Given the description of an element on the screen output the (x, y) to click on. 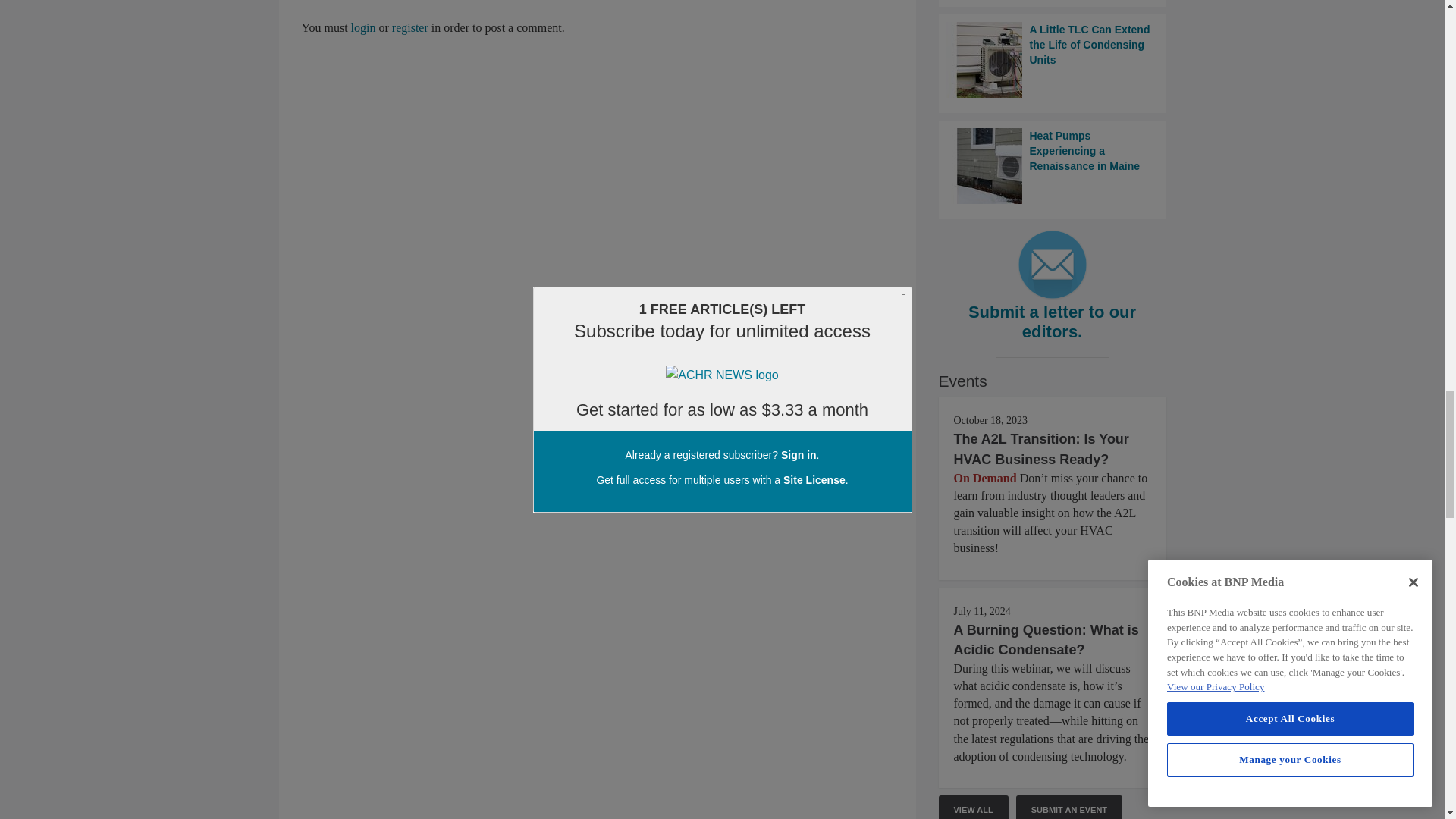
The A2L Transition: Is Your HVAC Business Ready? (1041, 448)
A Little TLC Can Extend the Life of Condensing Units (1052, 59)
Heat Pumps Experiencing a Renaissance in Maine (1052, 165)
